Given the description of an element on the screen output the (x, y) to click on. 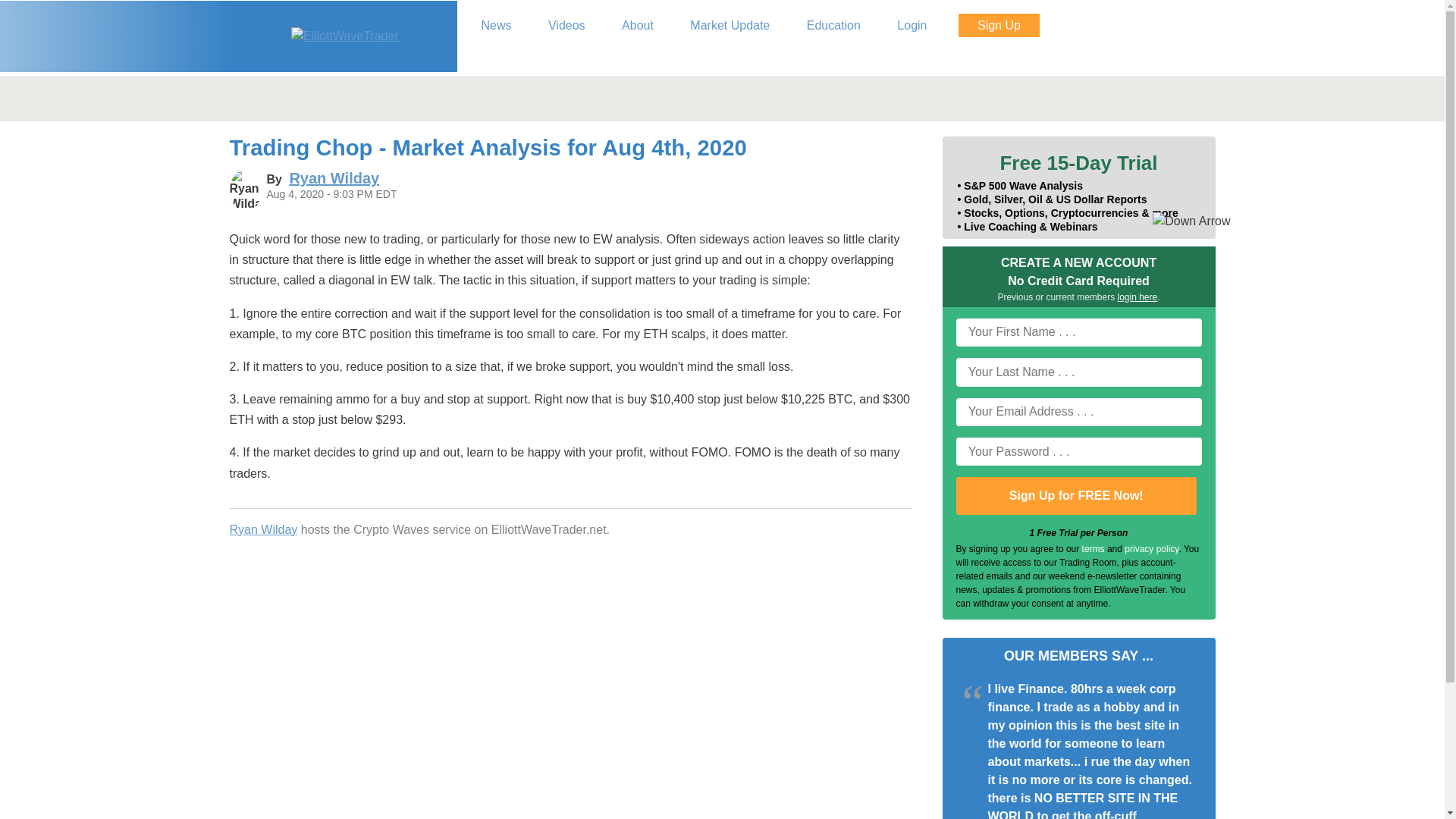
Sign Up to become a Member! (998, 24)
terms (1093, 548)
Elliott Wave Education (834, 25)
login here (1137, 296)
About (637, 25)
Videos (567, 25)
About ElliottWaveTrader (637, 25)
News (496, 25)
privacy policy (1150, 548)
Videos (567, 25)
Members Login (911, 25)
Market Update (729, 25)
Sign Up for FREE Now! (1075, 495)
Your Email Address (1078, 411)
Your Last Name (1078, 371)
